Given the description of an element on the screen output the (x, y) to click on. 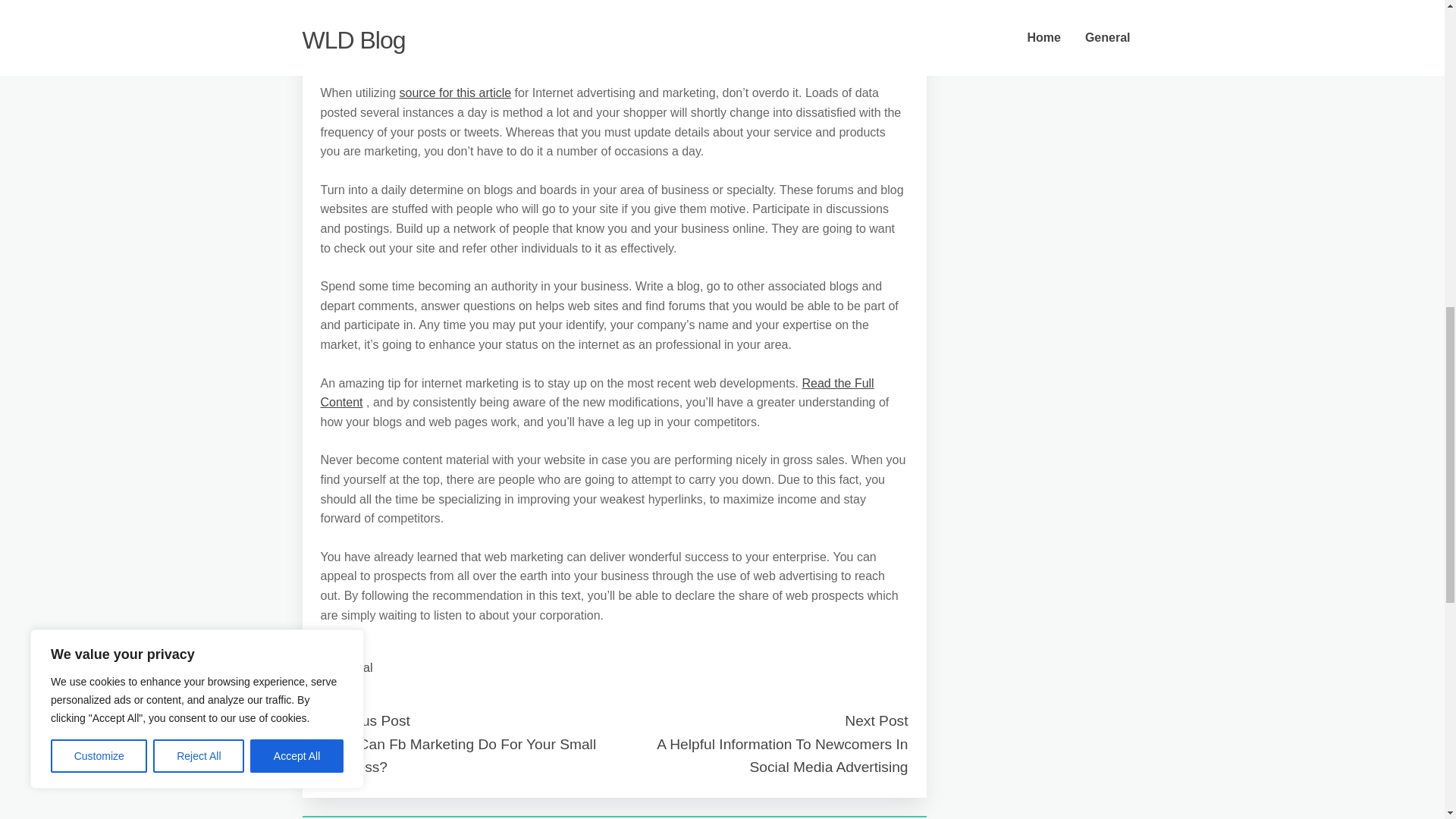
General (351, 667)
What Can Fb Marketing Do For Your Small Business? (457, 755)
Next Post (875, 720)
Read the Full Content (596, 392)
source for this article (455, 92)
Previous Post (364, 720)
